Given the description of an element on the screen output the (x, y) to click on. 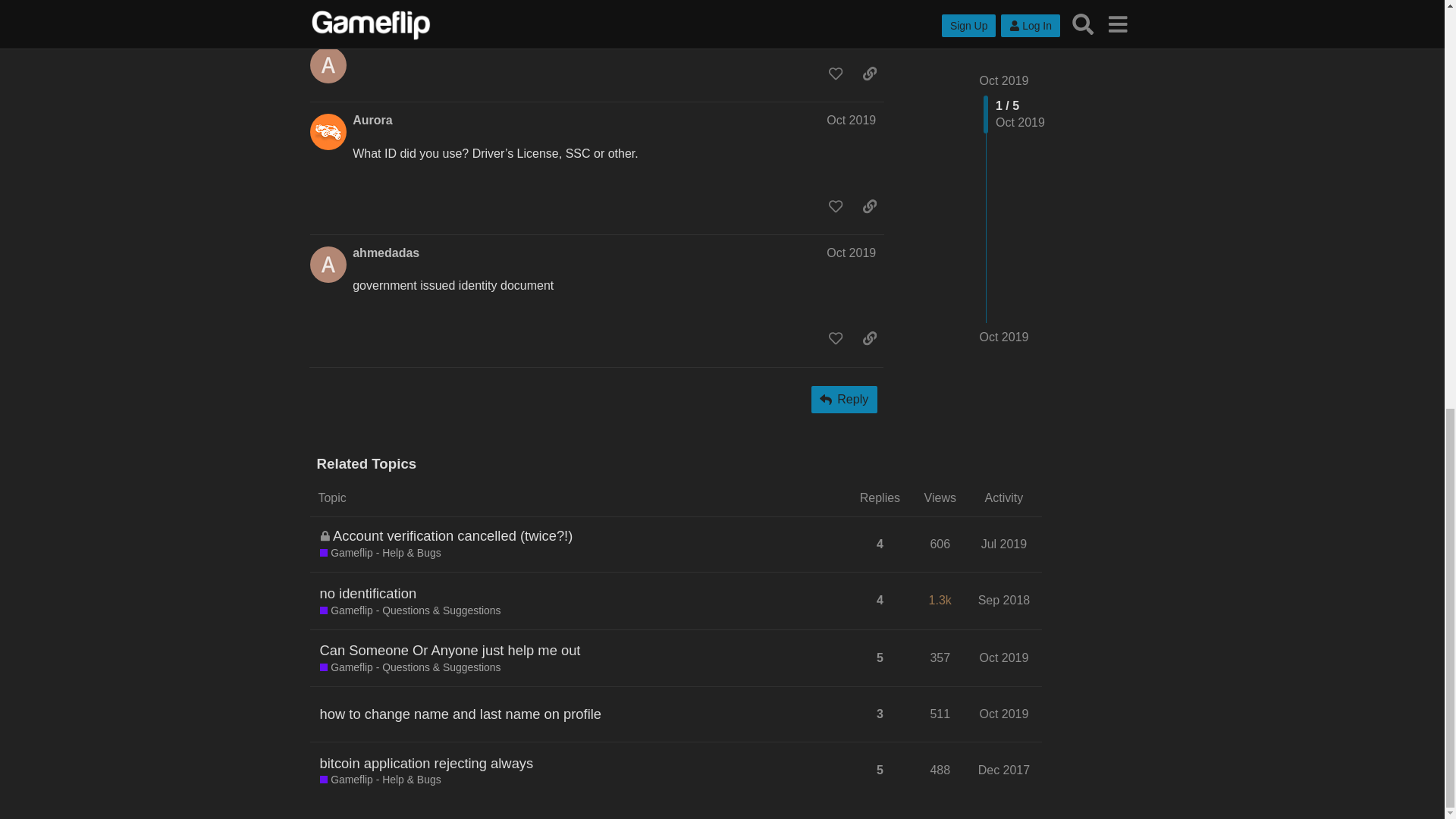
Oct 2019 (851, 119)
Aurora (371, 120)
ahmedadas (385, 252)
